Given the description of an element on the screen output the (x, y) to click on. 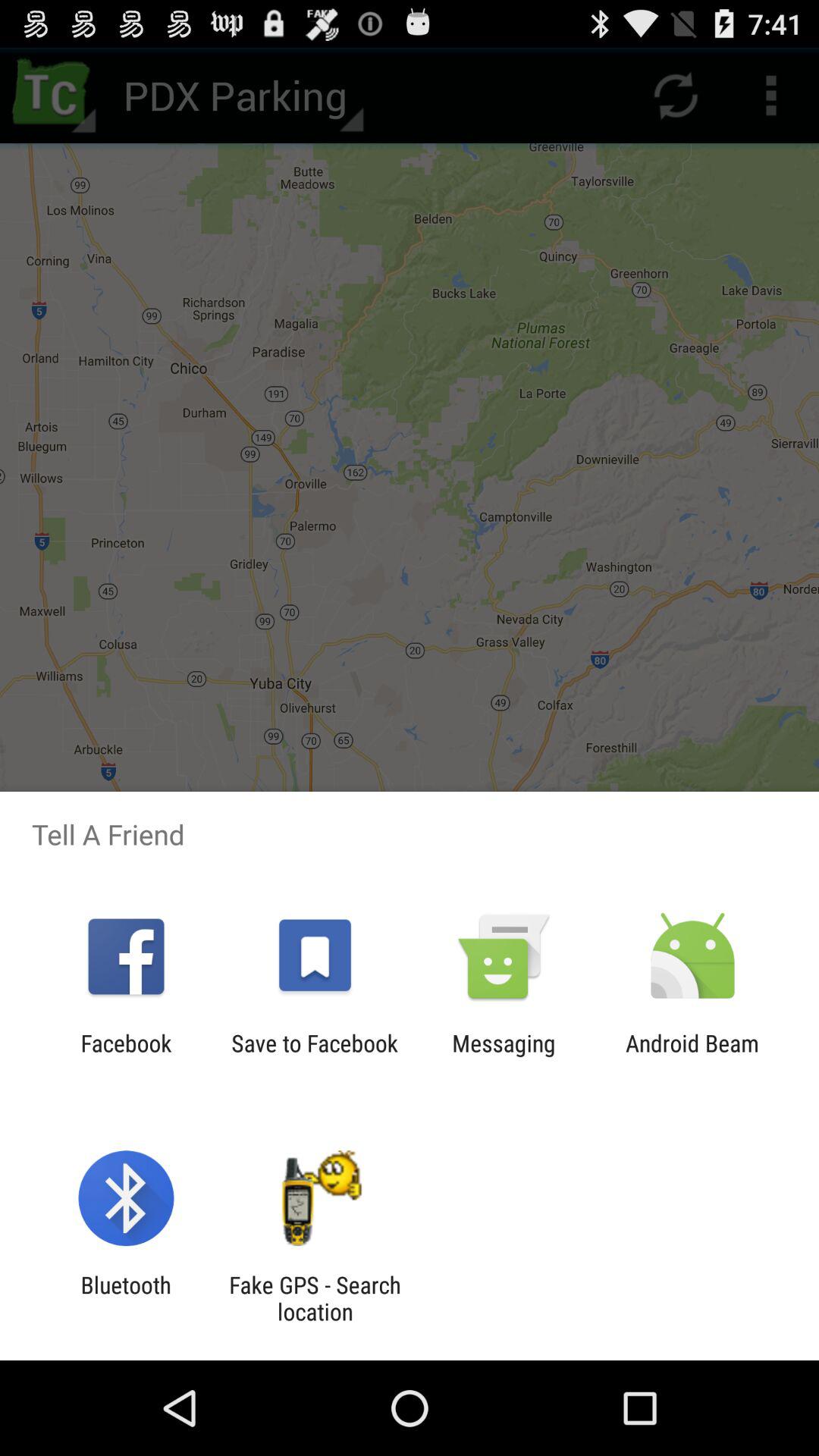
press the item to the left of the android beam item (503, 1056)
